Given the description of an element on the screen output the (x, y) to click on. 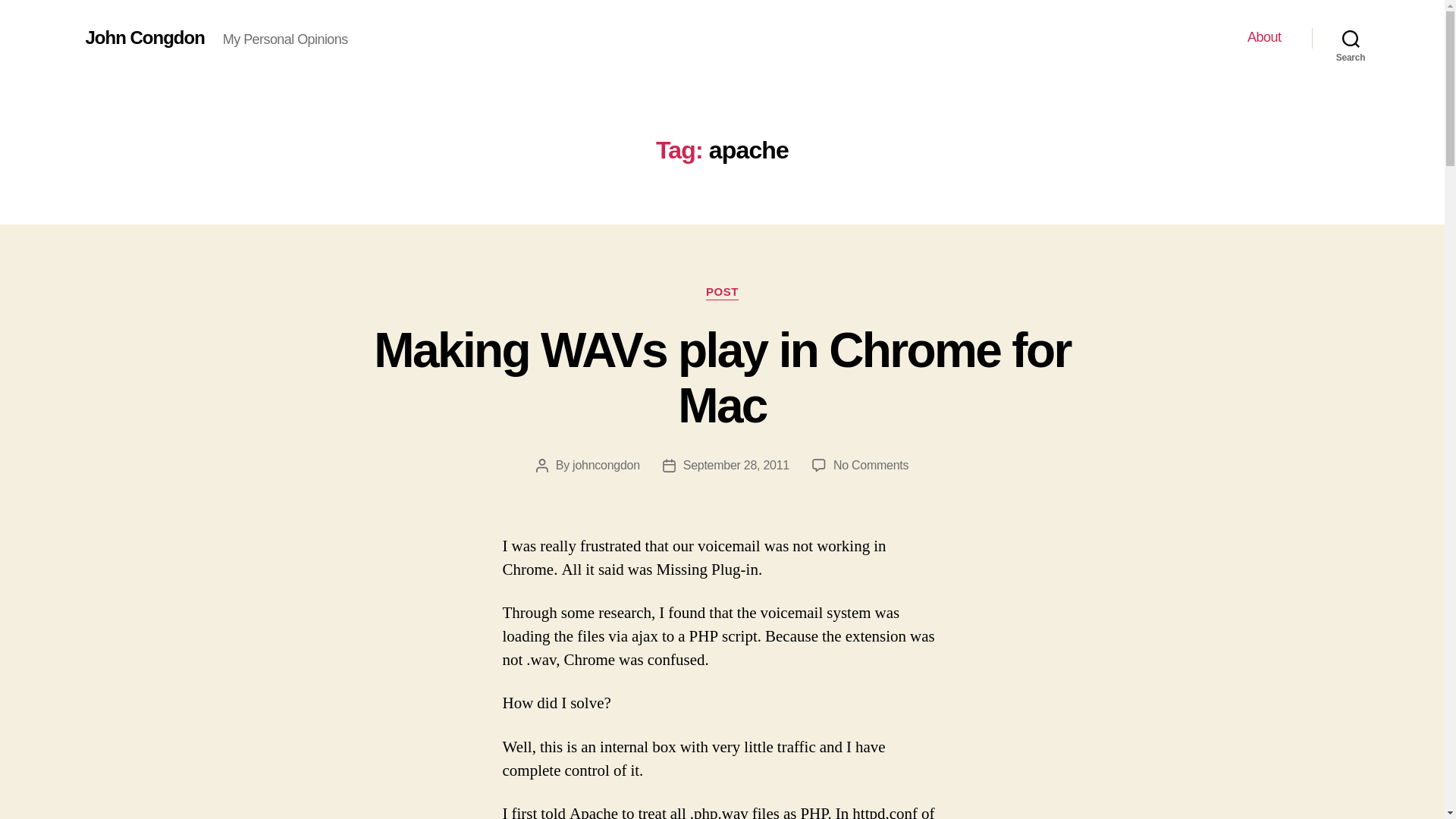
Search (1350, 37)
About (1264, 37)
johncongdon (606, 464)
Making WAVs play in Chrome for Mac (722, 377)
John Congdon (143, 37)
POST (722, 292)
September 28, 2011 (870, 464)
